Given the description of an element on the screen output the (x, y) to click on. 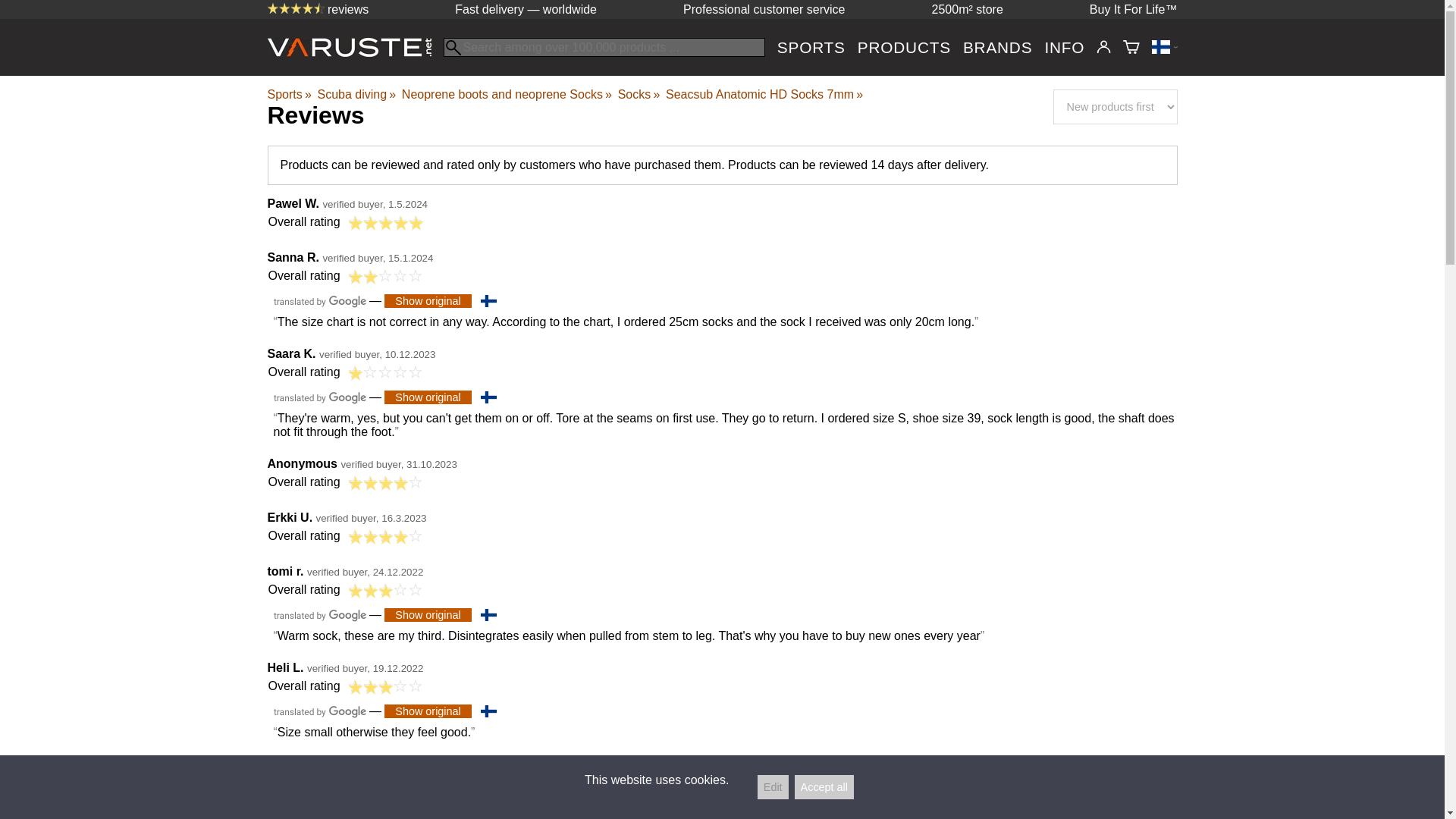
 reviews (317, 9)
PRODUCTS (903, 46)
Finnish (488, 300)
Finnish (488, 397)
SPORTS (811, 46)
Finnish (488, 711)
Home (354, 51)
Professional customer service (763, 9)
INFO (1063, 46)
Finland (1163, 46)
Finnish (488, 614)
BRANDS (997, 46)
Shopping cart (1131, 46)
